Given the description of an element on the screen output the (x, y) to click on. 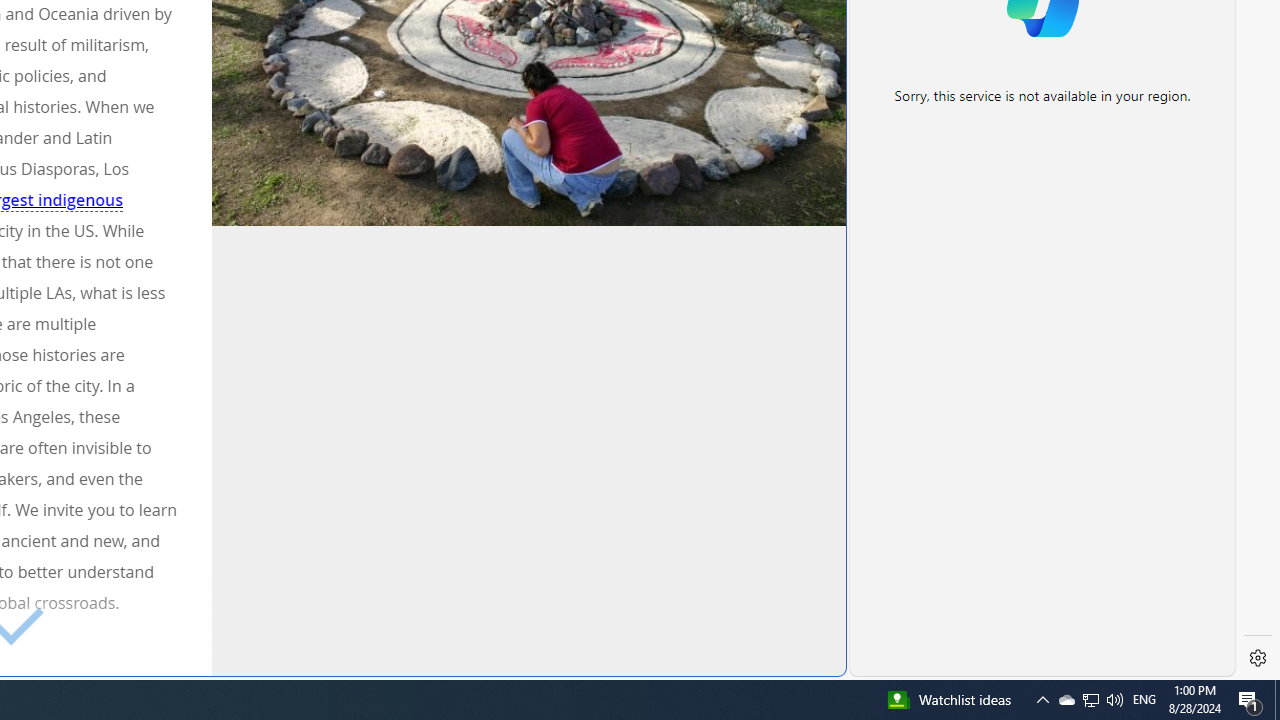
Return to narrative (534, 645)
Settings (1258, 658)
